Given the description of an element on the screen output the (x, y) to click on. 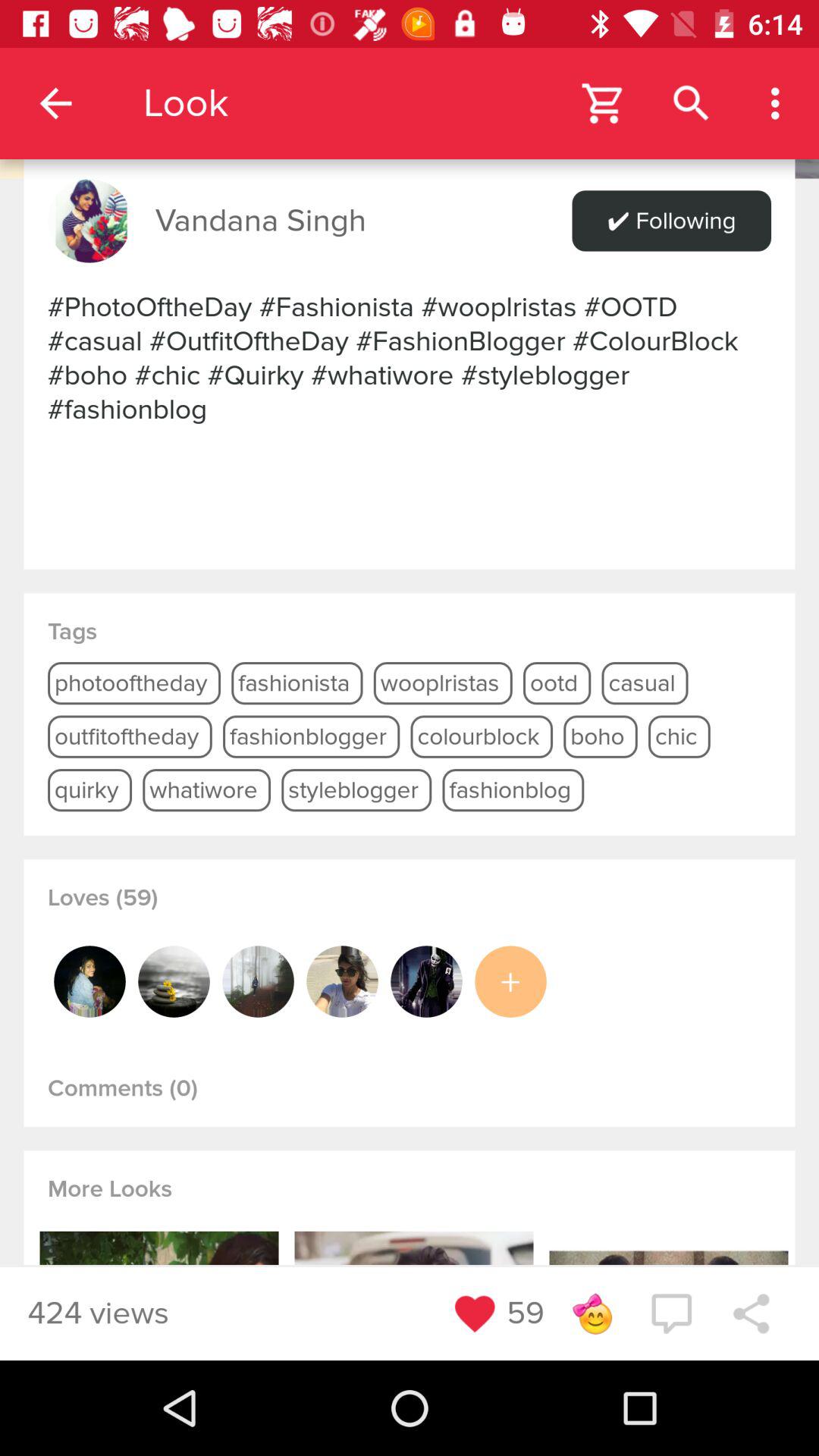
open icon above comments (0) item (173, 981)
